Given the description of an element on the screen output the (x, y) to click on. 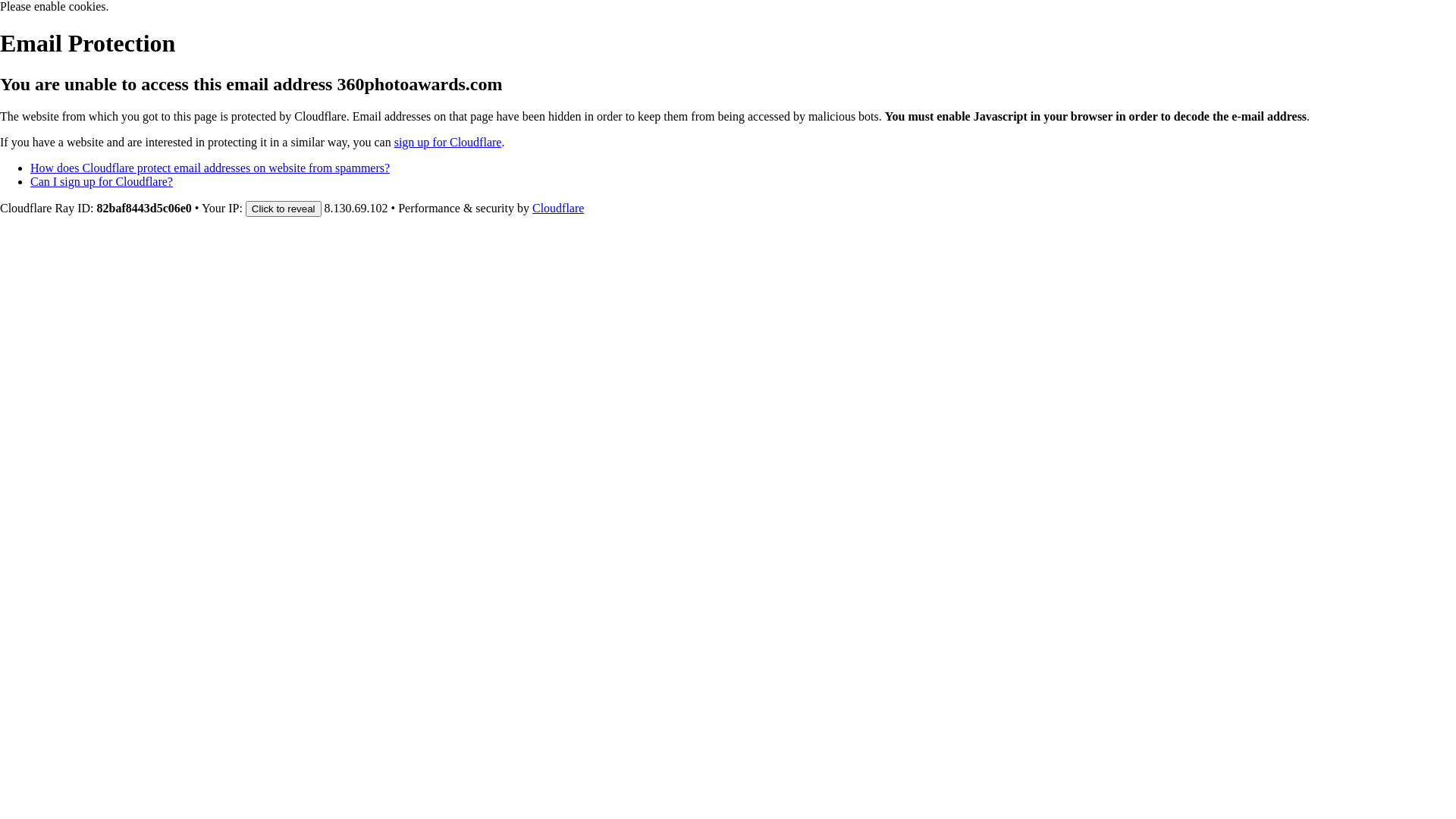
sign up for Cloudflare Element type: text (448, 141)
Cloudflare Element type: text (557, 207)
Click to reveal Element type: text (283, 208)
Can I sign up for Cloudflare? Element type: text (101, 181)
